Given the description of an element on the screen output the (x, y) to click on. 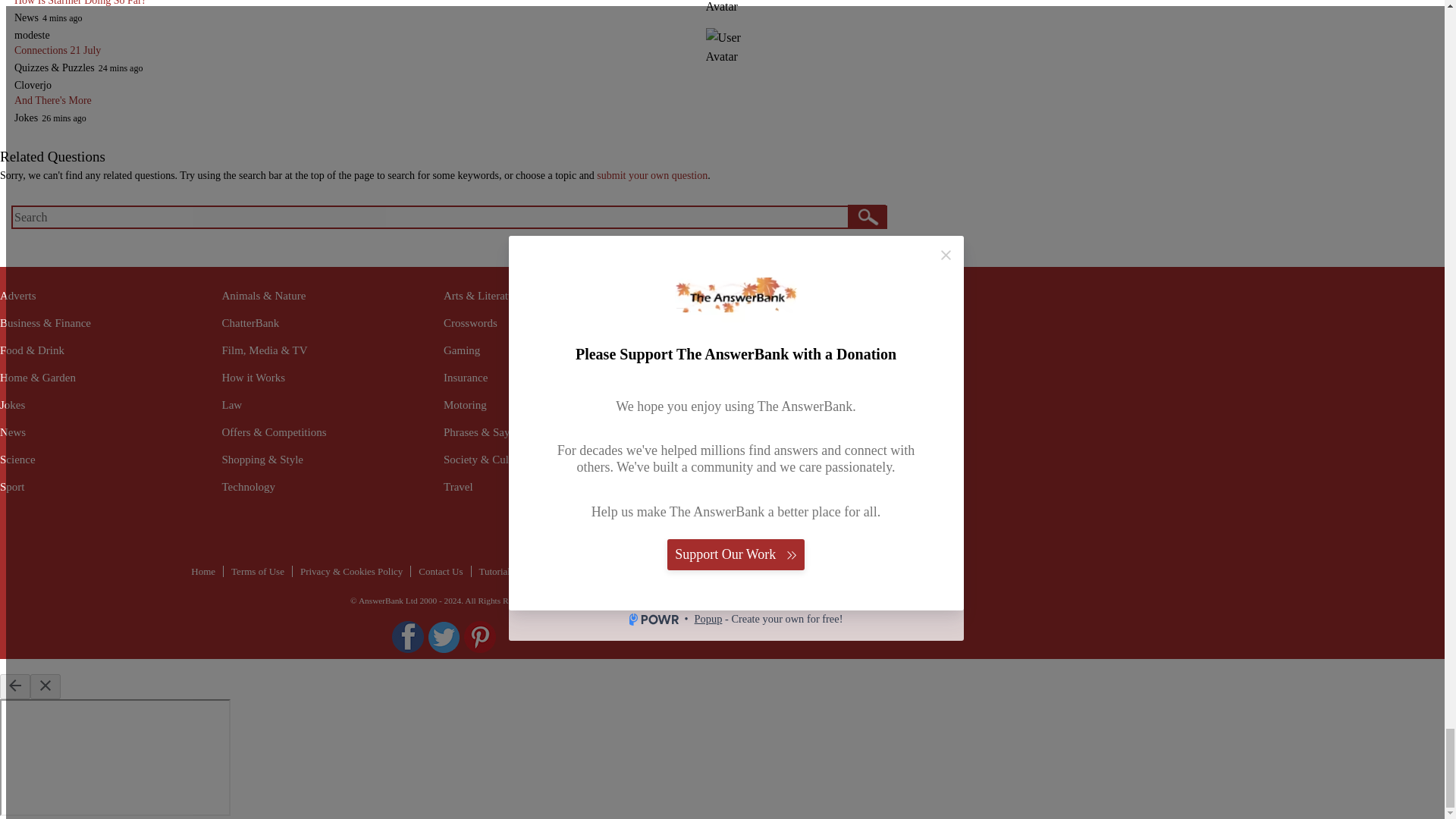
GO (866, 215)
GO (866, 215)
